Given the description of an element on the screen output the (x, y) to click on. 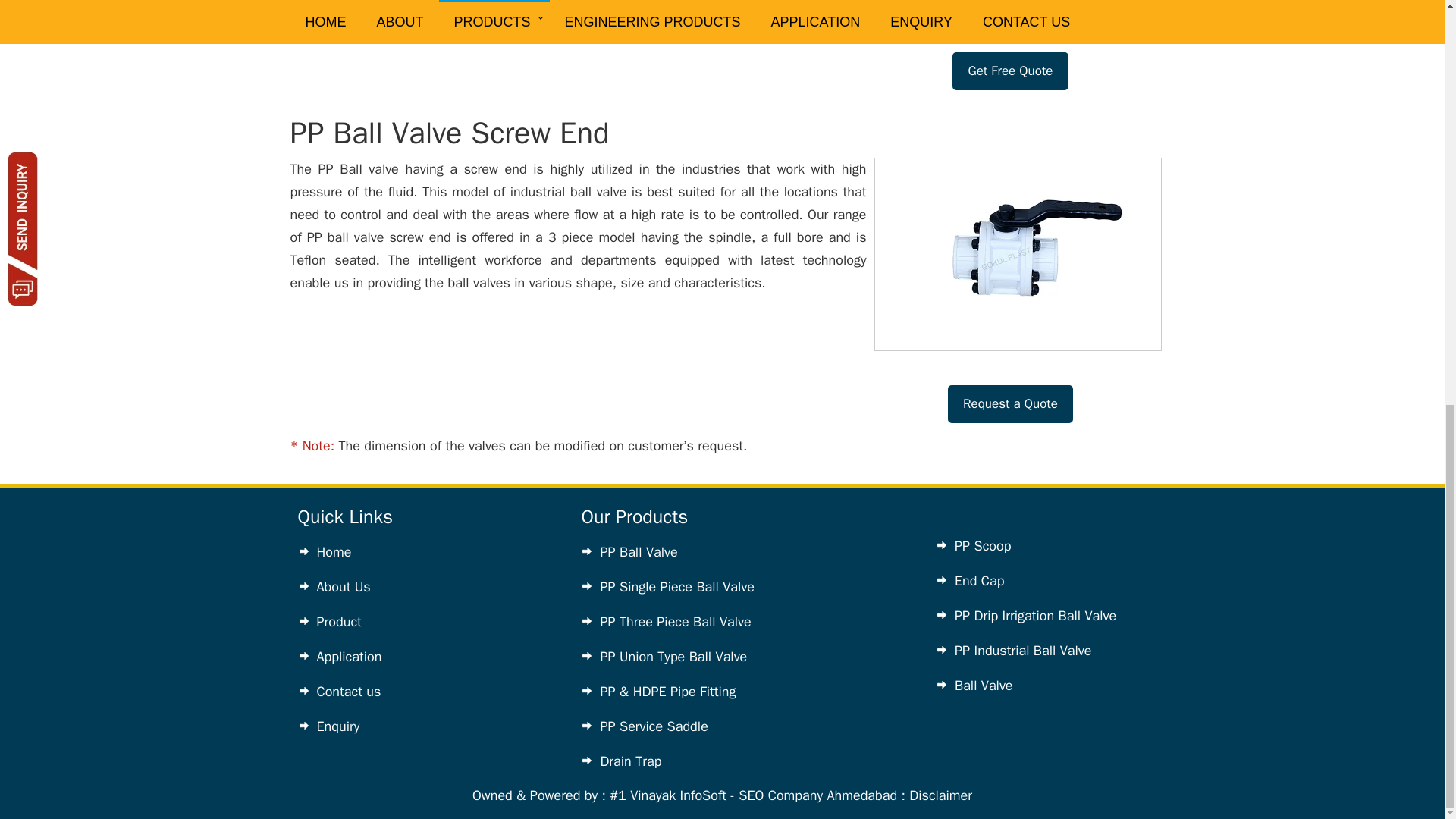
Home (334, 551)
About Us (344, 586)
Get Free Quote (1009, 71)
Product (339, 621)
PP ball valve screw end (376, 237)
Request a Quote (1010, 403)
